Given the description of an element on the screen output the (x, y) to click on. 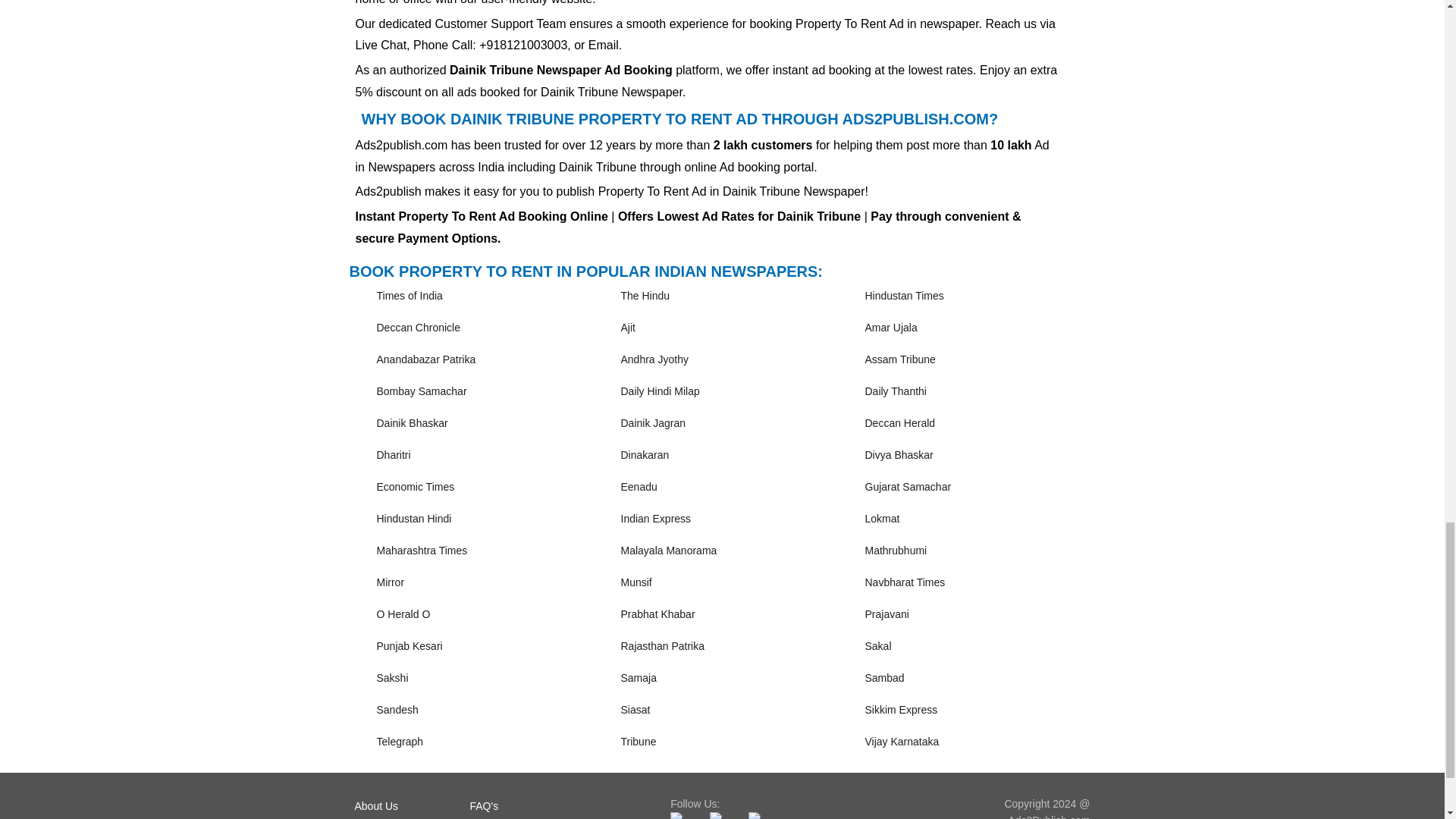
Bombay Samachar (420, 390)
Maharashtra Times (421, 550)
Assam Tribune Property To Rent Ad (899, 358)
Dharitri (392, 454)
Andhra Jyothi Property To Rent Ad (654, 358)
Divya Bhaskar Property To Rent Ad (898, 454)
Ajit (627, 327)
The Hindu (644, 295)
Times of India (408, 295)
Divya Bhaskar (898, 454)
